Given the description of an element on the screen output the (x, y) to click on. 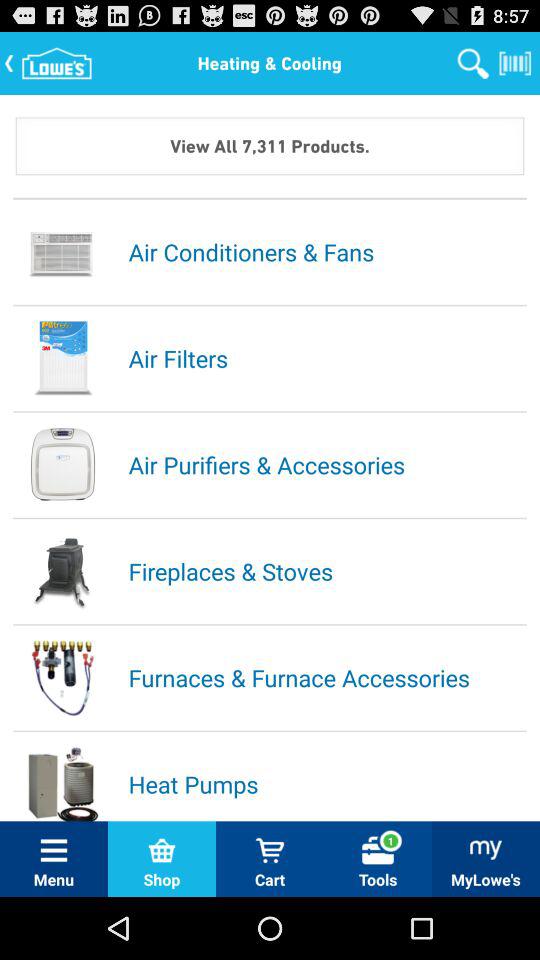
jump until furnaces & furnace accessories item (326, 677)
